Given the description of an element on the screen output the (x, y) to click on. 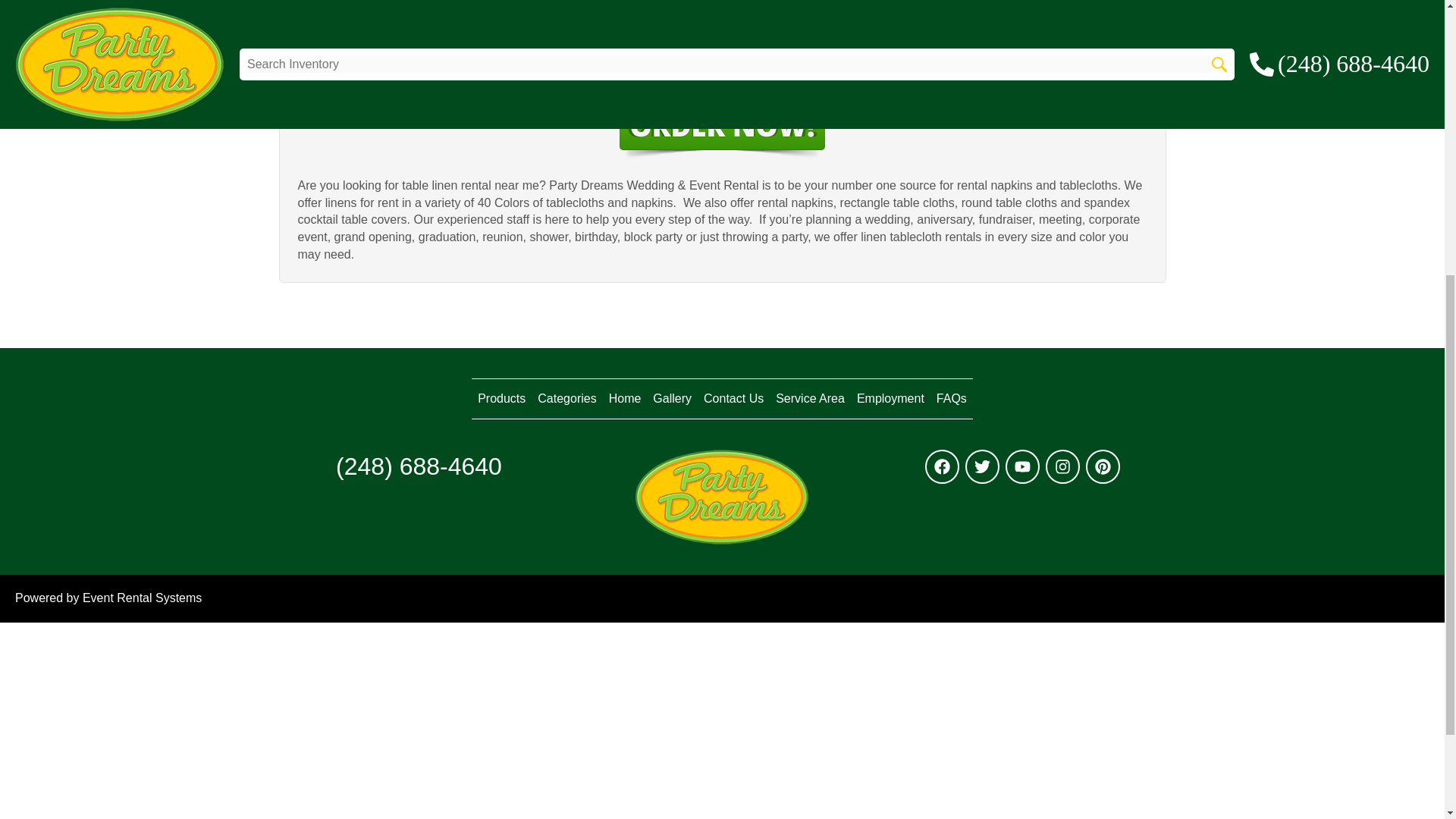
Service Area (810, 398)
Employment (890, 398)
Gallery (671, 398)
Products (501, 398)
Home (625, 398)
Categories (566, 398)
FAQs (951, 398)
Contact Us (732, 398)
Event Rental Systems (142, 597)
